Given the description of an element on the screen output the (x, y) to click on. 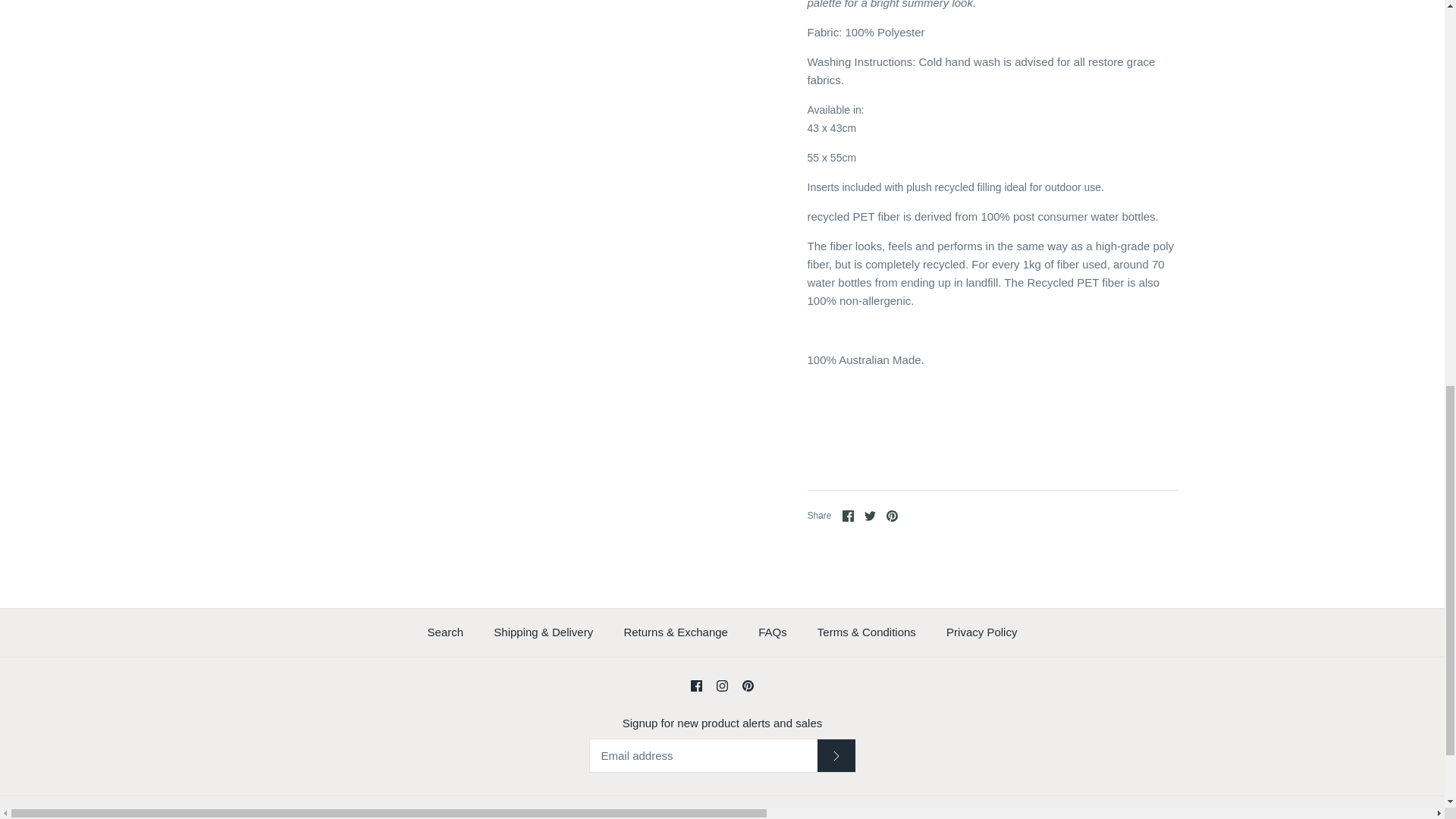
Instagram (722, 685)
Facebook (848, 515)
Pinterest (892, 515)
Pinterest (748, 685)
Twitter (870, 515)
Facebook (695, 685)
